Given the description of an element on the screen output the (x, y) to click on. 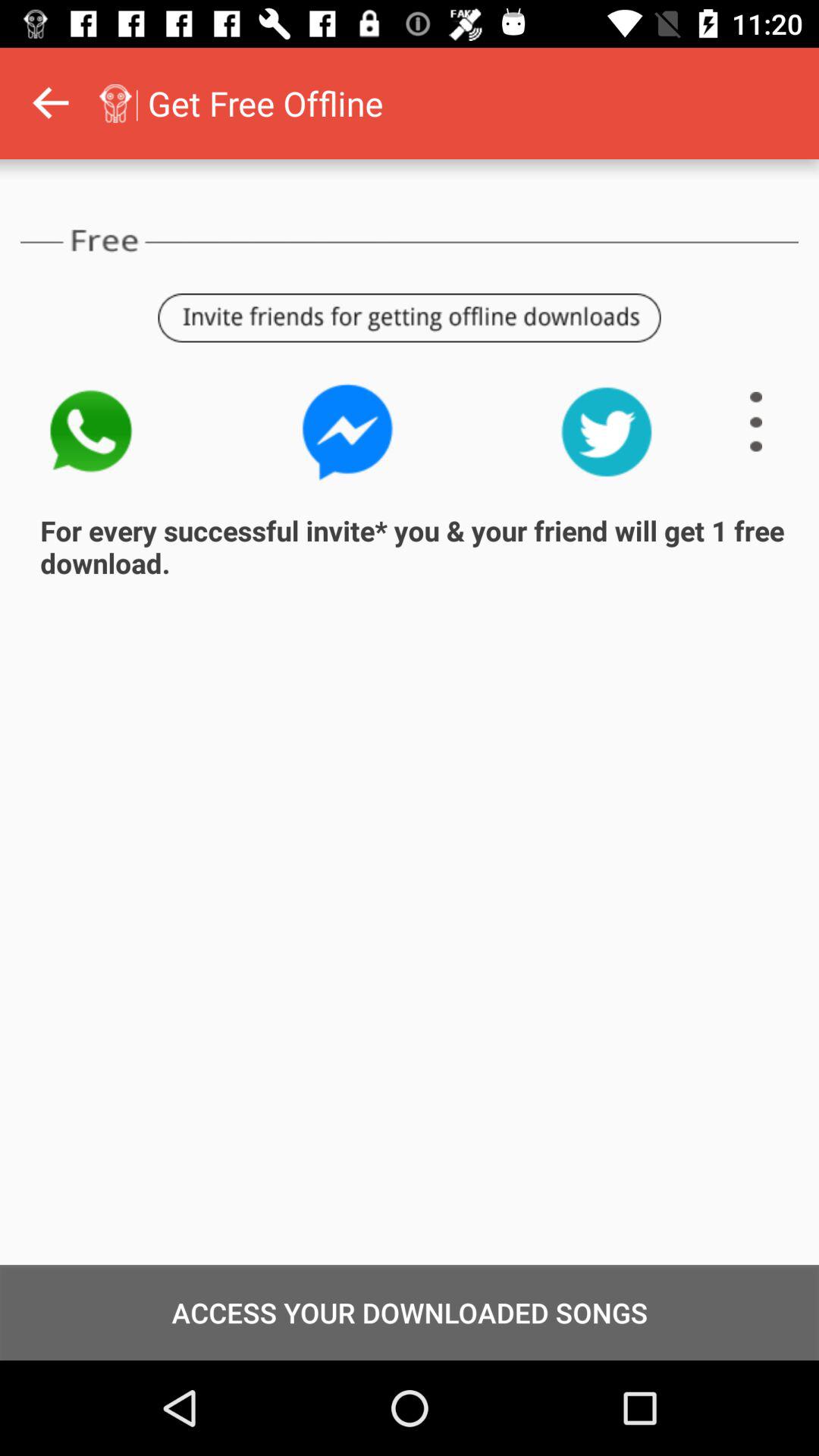
twitter (606, 431)
